Given the description of an element on the screen output the (x, y) to click on. 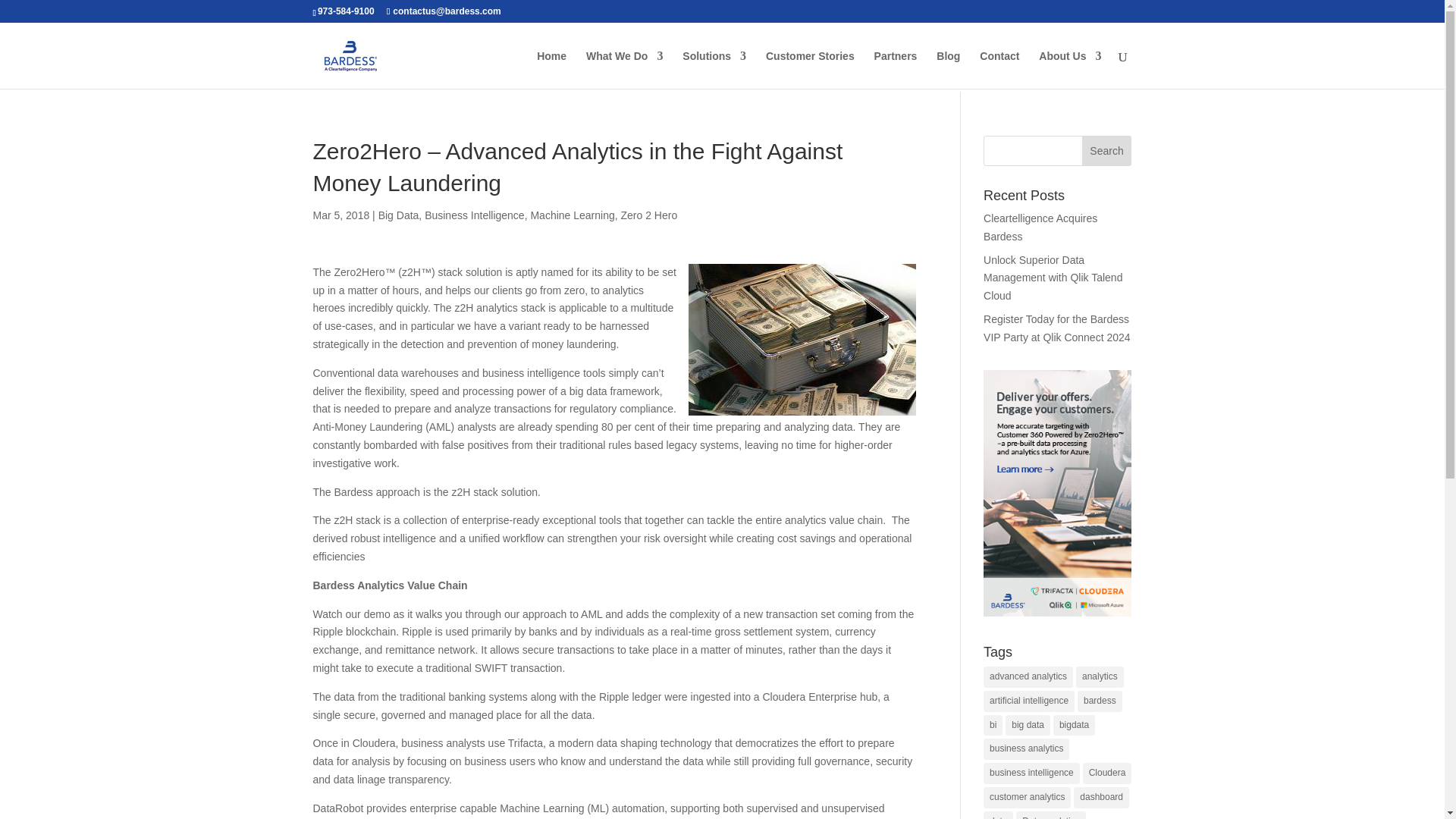
Contact (999, 69)
What We Do (624, 69)
Solutions (713, 69)
About Us (1069, 69)
Partners (896, 69)
Search (1106, 150)
Customer Stories (809, 69)
